Given the description of an element on the screen output the (x, y) to click on. 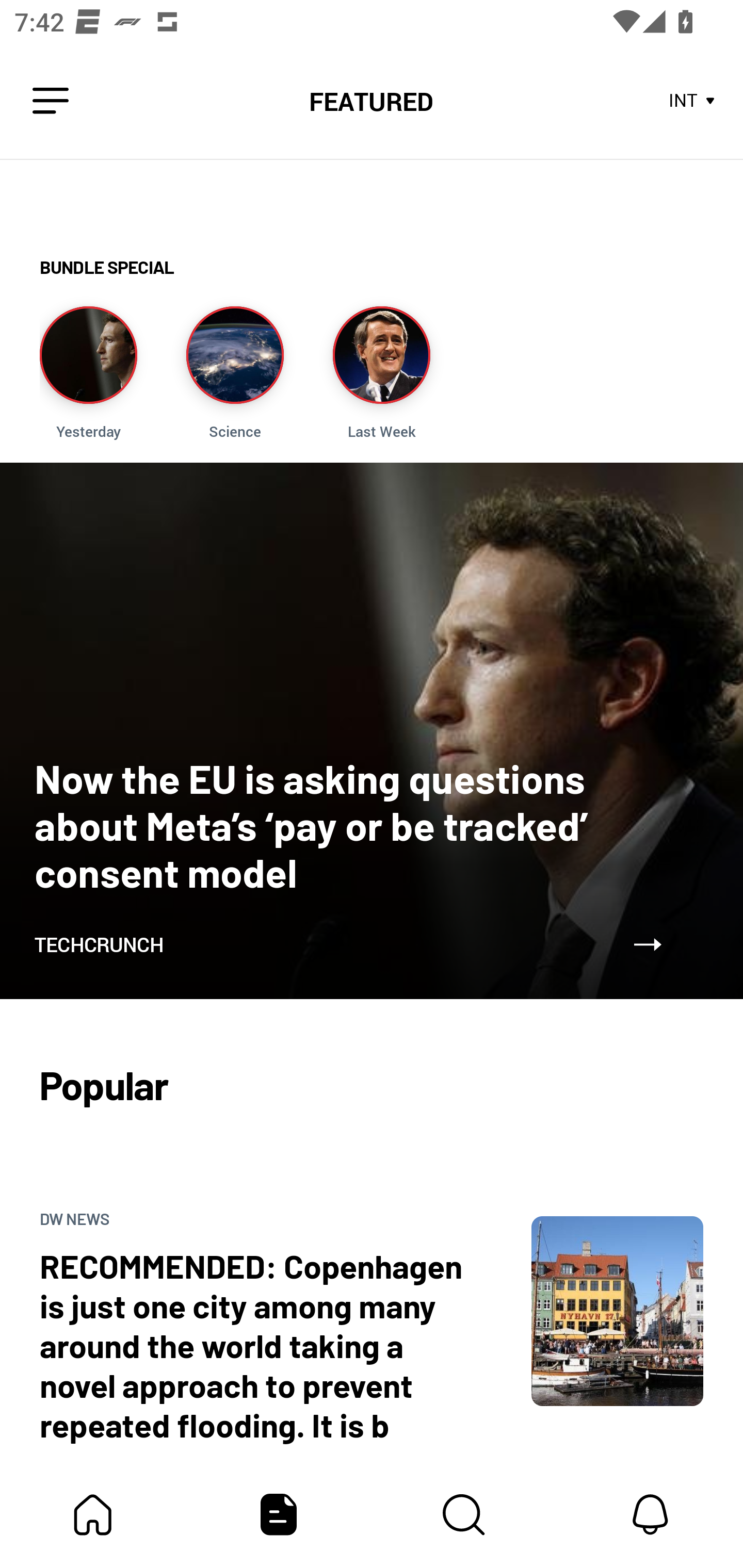
Leading Icon (50, 101)
INT Store Area (692, 101)
Story Image Yesterday (88, 372)
Story Image Science (234, 372)
Story Image Last Week (381, 372)
My Bundle (92, 1514)
Content Store (464, 1514)
Notifications (650, 1514)
